Given the description of an element on the screen output the (x, y) to click on. 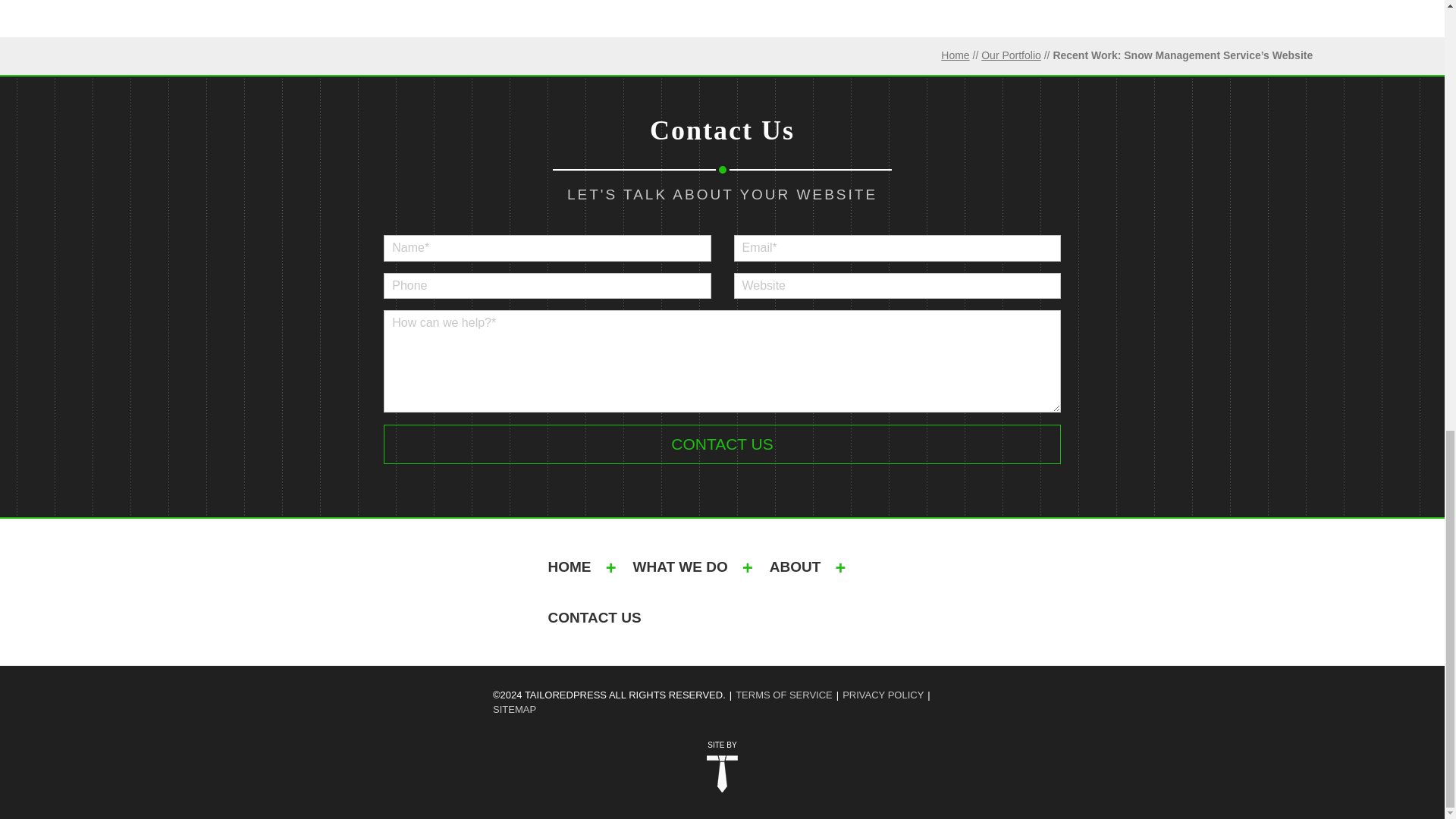
TailoredPress's sitemap (514, 709)
TailoredPress's Privacy Policy (883, 695)
PRIVACY POLICY (883, 695)
TailoredPress's Terms of Service (783, 695)
WHAT WE DO (679, 566)
Contact Us (722, 444)
HOME (568, 566)
Contact Us (722, 444)
TERMS OF SERVICE (783, 695)
CONTACT US (594, 617)
